Given the description of an element on the screen output the (x, y) to click on. 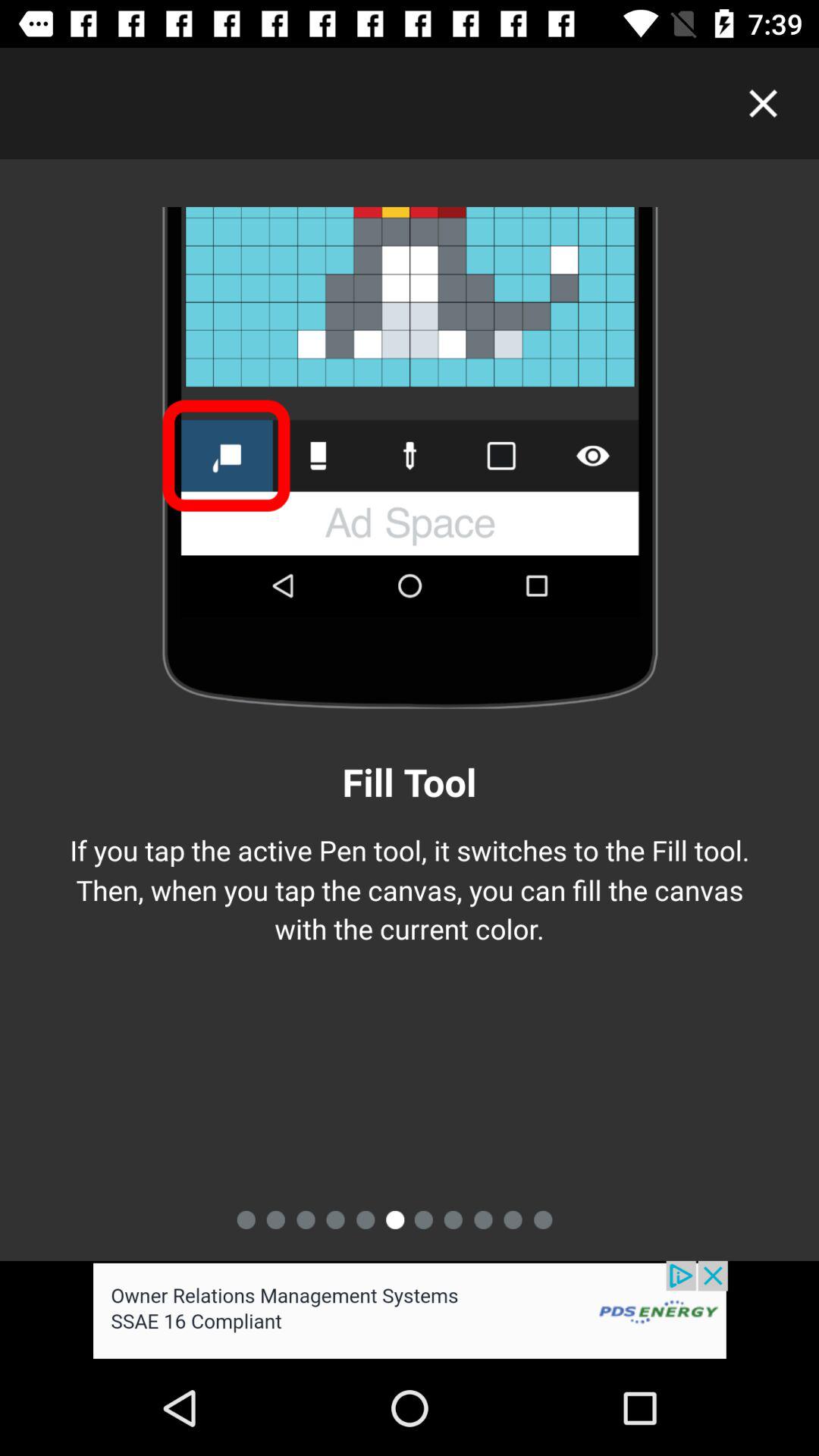
advertisement (409, 1310)
